Given the description of an element on the screen output the (x, y) to click on. 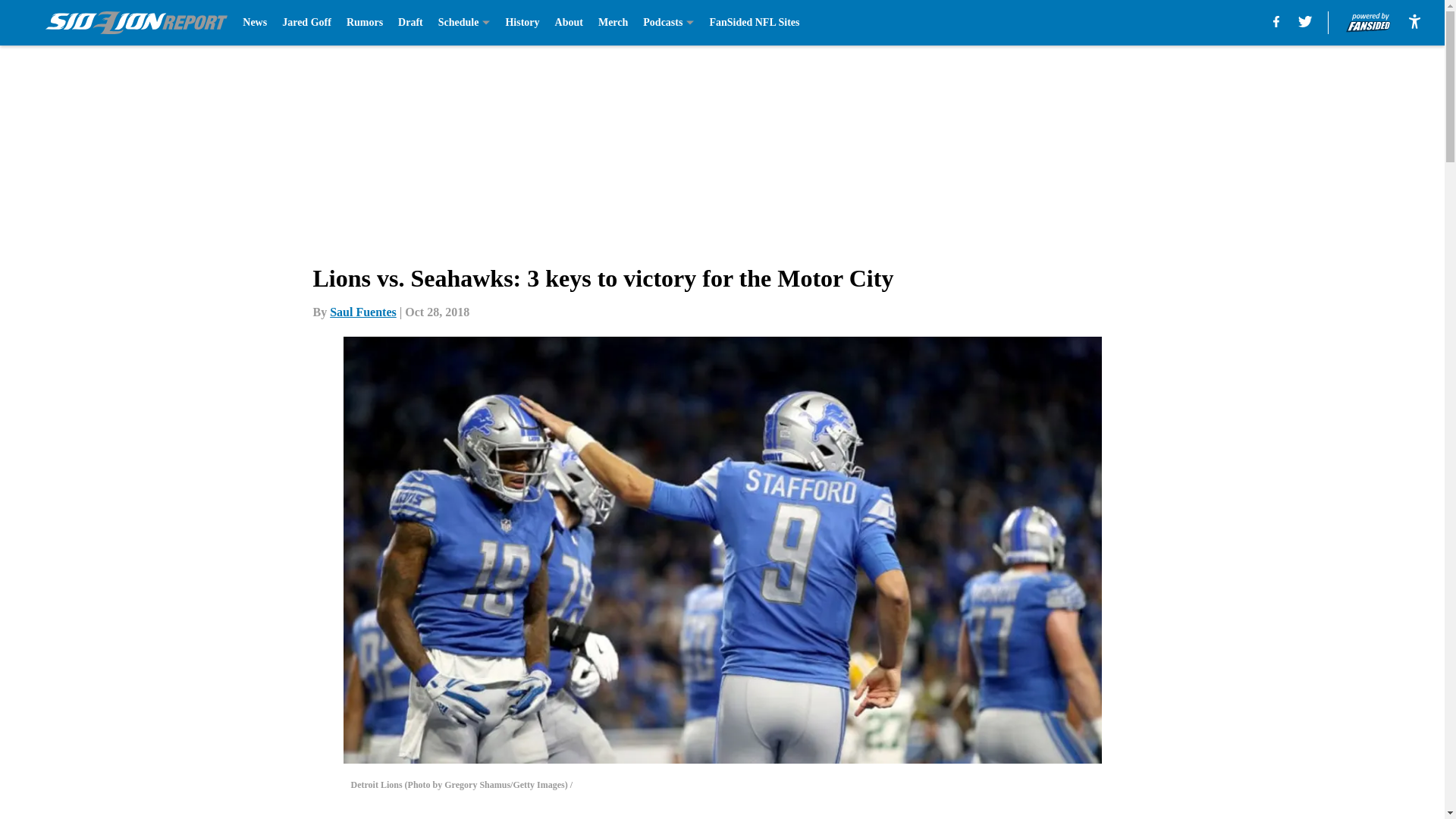
Jared Goff (306, 22)
Merch (612, 22)
About (568, 22)
Saul Fuentes (363, 311)
Draft (410, 22)
Rumors (364, 22)
News (254, 22)
FanSided NFL Sites (754, 22)
History (521, 22)
